Given the description of an element on the screen output the (x, y) to click on. 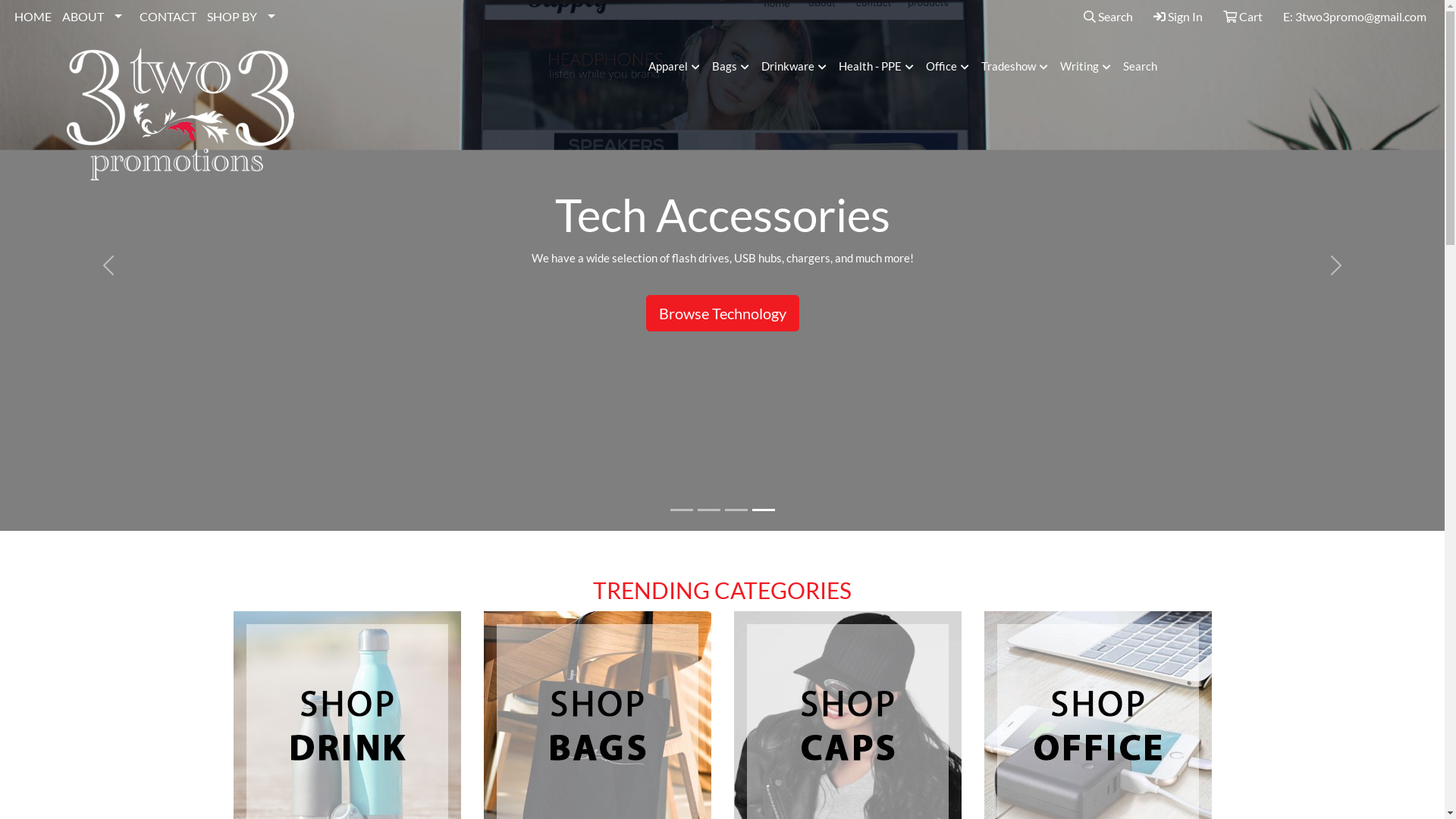
Next Element type: text (1335, 265)
Search Element type: text (1140, 66)
Writing Element type: text (1085, 66)
Office Element type: text (947, 66)
Drinkware Element type: text (793, 66)
HOME Element type: text (32, 16)
SHOP BY Element type: text (244, 16)
Apparel Element type: text (674, 66)
ABOUT Element type: text (95, 16)
CONTACT Element type: text (167, 16)
Shop Element type: text (722, 300)
Sign In Element type: text (1178, 16)
Previous Element type: text (108, 265)
Tradeshow Element type: text (1014, 66)
Cart Element type: text (1242, 16)
Search Element type: text (1108, 16)
Bags Element type: text (730, 66)
E: 3two3promo@gmail.com Element type: text (1354, 16)
Health - PPE Element type: text (875, 66)
